Given the description of an element on the screen output the (x, y) to click on. 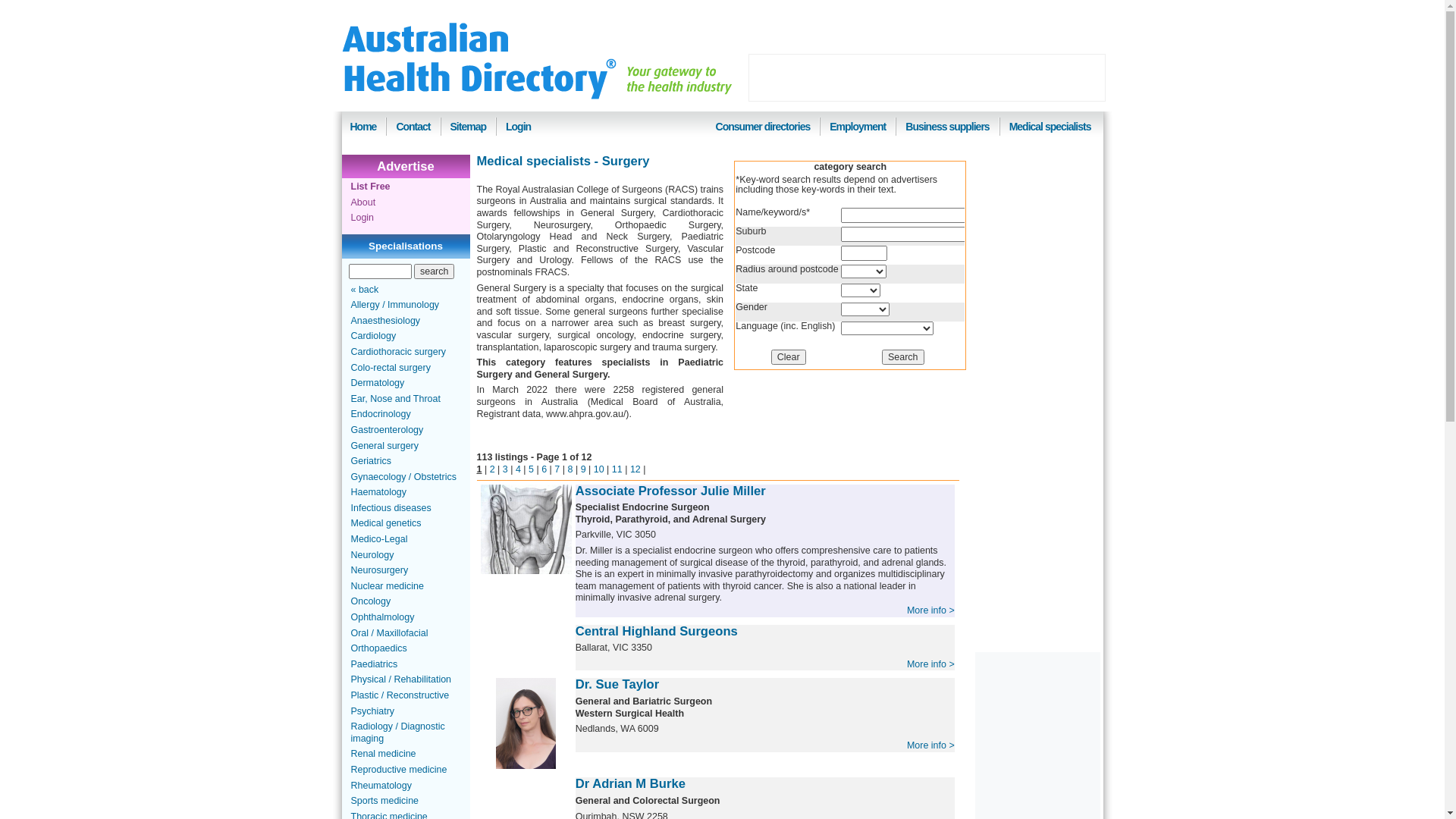
Employment Element type: text (857, 126)
11 Element type: text (616, 469)
Australian Health Directory Element type: text (478, 60)
12 Element type: text (635, 469)
Colo-rectal surgery Element type: text (389, 367)
2 Element type: text (492, 469)
Orthopaedics Element type: text (378, 648)
search Element type: text (434, 271)
Advertisement Element type: hover (1032, 387)
Dr. Sue Taylor Element type: text (616, 684)
Reproductive medicine Element type: text (398, 769)
Login Element type: text (361, 217)
Infectious diseases Element type: text (390, 507)
Neurology Element type: text (371, 554)
4 Element type: text (517, 469)
More info > Element type: text (930, 745)
Rheumatology Element type: text (380, 785)
Advertisement Element type: hover (926, 77)
7 Element type: text (556, 469)
More info > Element type: text (930, 663)
Sitemap Element type: text (468, 126)
More info > Element type: text (930, 610)
6 Element type: text (543, 469)
Oral / Maxillofacial Element type: text (388, 632)
Renal medicine Element type: text (382, 753)
Medical specialists Element type: text (1050, 126)
Specialisations Element type: text (405, 245)
Ear, Nose and Throat Element type: text (394, 398)
Login Element type: text (517, 126)
Associate Professor Julie Miller Element type: text (670, 490)
Dermatology Element type: text (377, 382)
Plastic / Reconstructive Element type: text (399, 695)
Clear Element type: text (788, 356)
3 Element type: text (505, 469)
Radiology / Diagnostic imaging Element type: text (397, 732)
About Element type: text (362, 202)
Cardiothoracic surgery Element type: text (397, 351)
10 Element type: text (598, 469)
Anaesthesiology Element type: text (385, 320)
9 Element type: text (583, 469)
Oncology Element type: text (370, 601)
5 Element type: text (530, 469)
Geriatrics Element type: text (370, 460)
Gynaecology / Obstetrics Element type: text (402, 476)
Nuclear medicine Element type: text (386, 585)
Home Element type: text (363, 126)
Gastroenterology Element type: text (386, 429)
Contact Element type: text (412, 126)
Dr Adrian M Burke Element type: text (630, 783)
Medico-Legal Element type: text (378, 538)
Physical / Rehabilitation Element type: text (400, 679)
8 Element type: text (569, 469)
Search Element type: text (902, 356)
Allergy / Immunology Element type: text (394, 304)
Medical genetics Element type: text (385, 522)
General surgery Element type: text (384, 444)
Paediatrics Element type: text (373, 663)
Central Highland Surgeons Element type: text (656, 631)
Endocrinology Element type: text (380, 413)
Business suppliers Element type: text (946, 126)
Sports medicine Element type: text (384, 800)
Consumer directories Element type: text (762, 126)
List Free Element type: text (369, 186)
Psychiatry Element type: text (372, 711)
Cardiology Element type: text (372, 335)
Ophthalmology Element type: text (382, 616)
Haematology Element type: text (378, 491)
Neurosurgery Element type: text (378, 569)
